Given the description of an element on the screen output the (x, y) to click on. 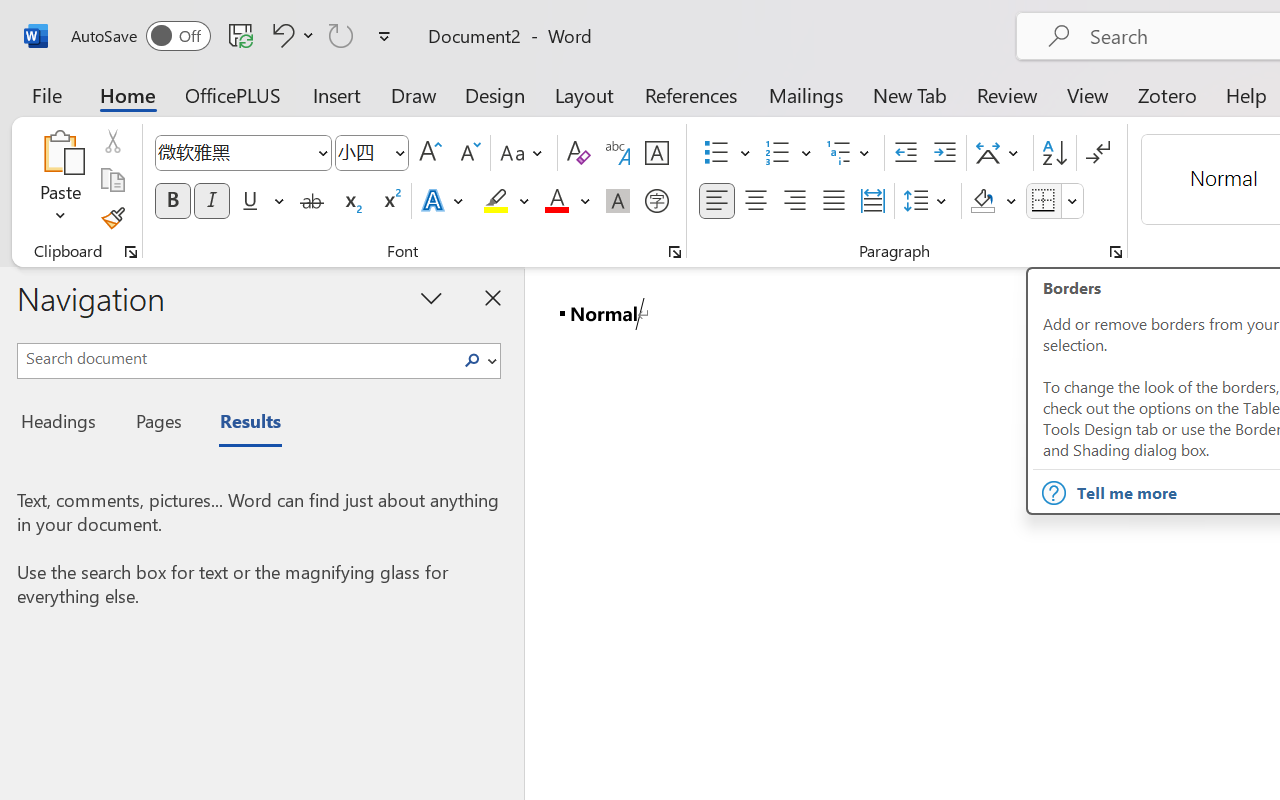
Character Shading (618, 201)
Design (495, 94)
Text Highlight Color Yellow (495, 201)
Italic (212, 201)
Task Pane Options (431, 297)
Multilevel List (850, 153)
Font (234, 152)
Align Left (716, 201)
Office Clipboard... (131, 252)
Font... (675, 252)
Bullets (727, 153)
File Tab (46, 94)
View (1087, 94)
Format Painter (112, 218)
Copy (112, 179)
